Given the description of an element on the screen output the (x, y) to click on. 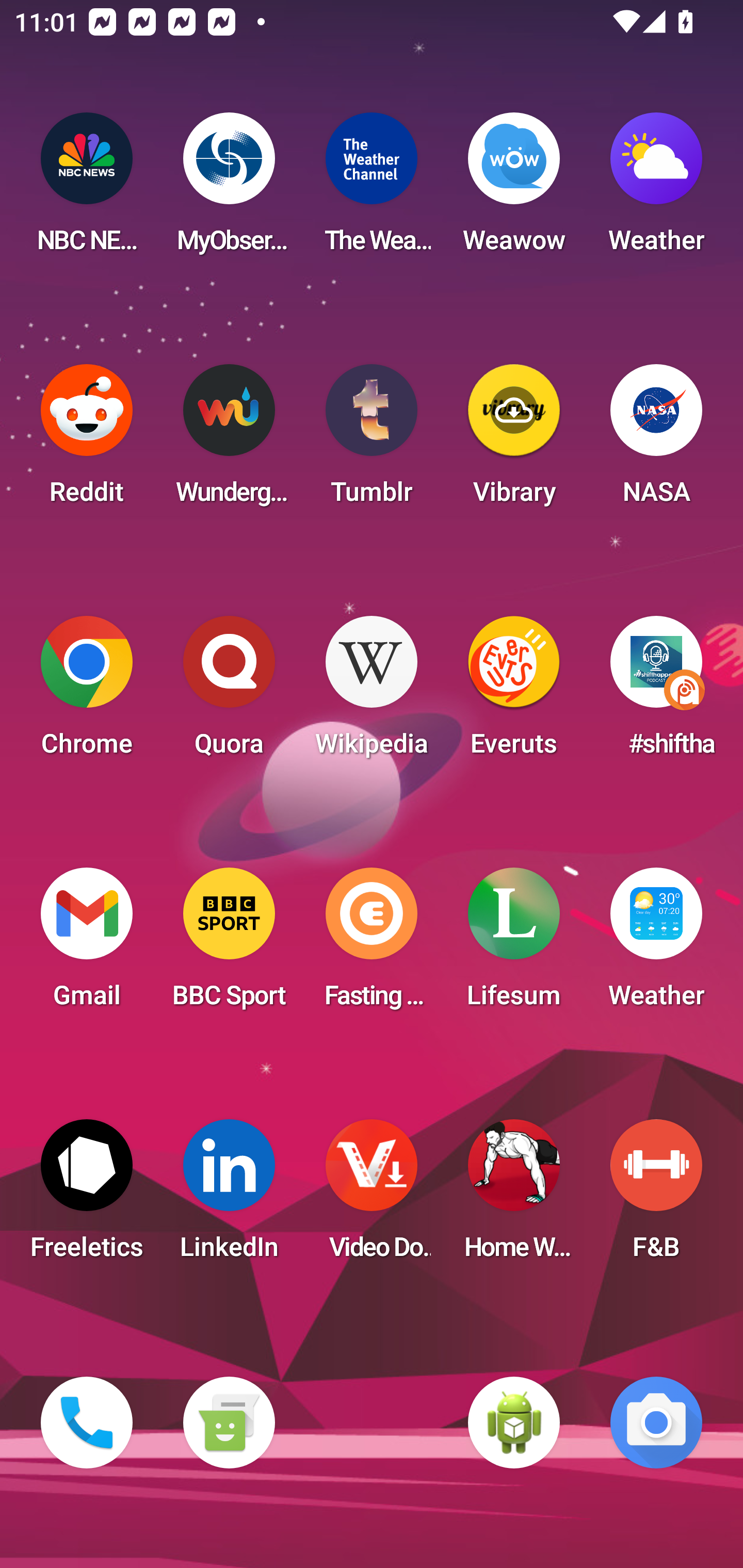
NBC NEWS (86, 188)
MyObservatory (228, 188)
The Weather Channel (371, 188)
Weawow (513, 188)
Weather (656, 188)
Reddit (86, 440)
Wunderground (228, 440)
Tumblr (371, 440)
Vibrary (513, 440)
NASA (656, 440)
Chrome (86, 692)
Quora (228, 692)
Wikipedia (371, 692)
Everuts (513, 692)
#shifthappens in the Digital Workplace Podcast (656, 692)
Gmail (86, 943)
BBC Sport (228, 943)
Fasting Coach (371, 943)
Lifesum (513, 943)
Weather (656, 943)
Freeletics (86, 1195)
LinkedIn (228, 1195)
Video Downloader & Ace Player (371, 1195)
Home Workout (513, 1195)
F&B (656, 1195)
Phone (86, 1422)
Messaging (228, 1422)
WebView Browser Tester (513, 1422)
Camera (656, 1422)
